Given the description of an element on the screen output the (x, y) to click on. 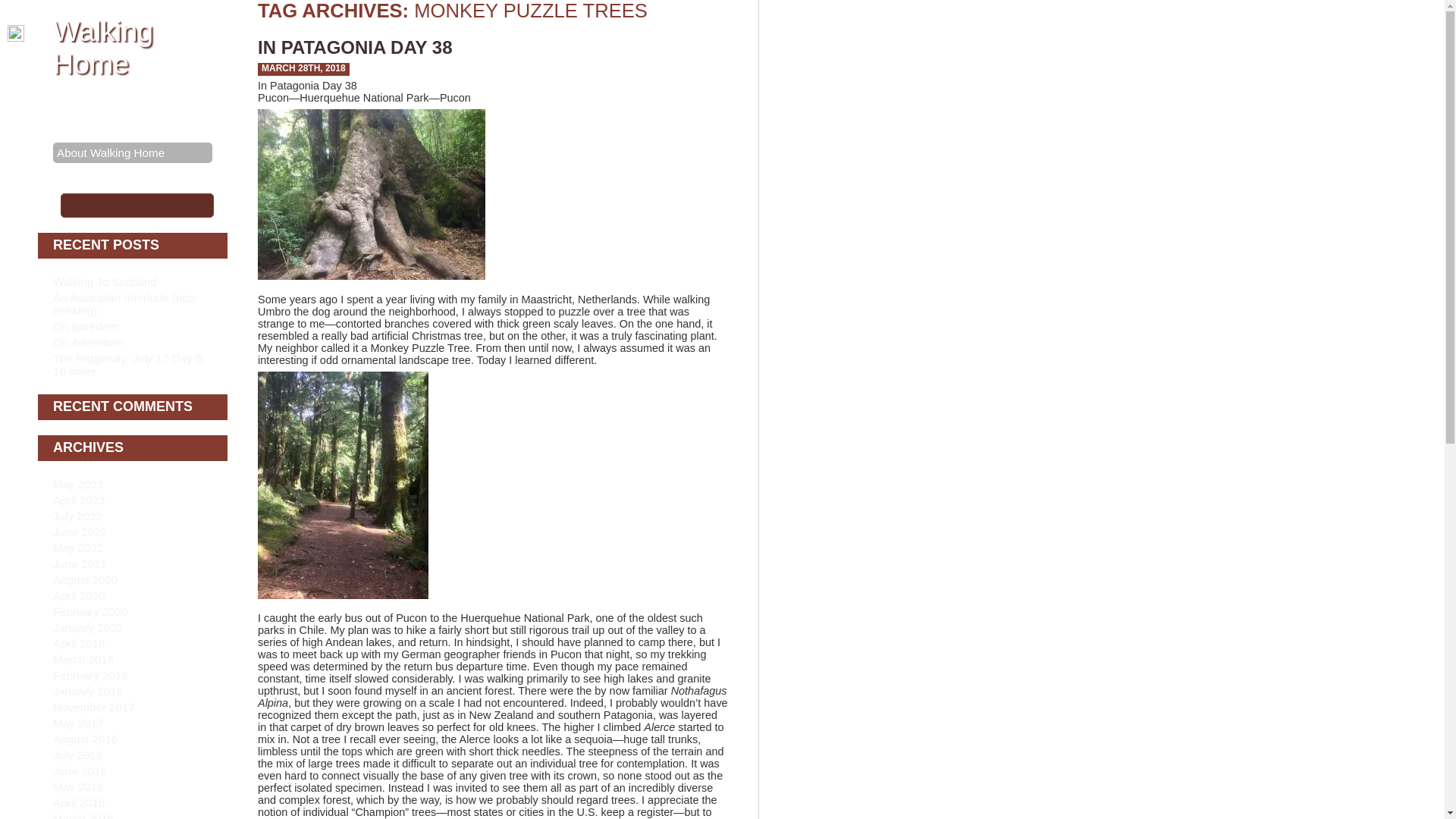
April 2020 (78, 595)
Permalink to In Patagonia Day 38 (304, 68)
April 2023 (78, 499)
Walking Home (102, 47)
Walking Home - reveries of an amateur long-distance hiker (102, 47)
April 2016 (78, 802)
IN PATAGONIA DAY 38 (354, 46)
April 2018 (78, 643)
Permalink to In Patagonia Day 38 (354, 46)
May 2022 (77, 548)
August 2020 (84, 580)
May 2017 (77, 723)
June 2016 (79, 771)
July 2022 (76, 516)
August 2016 (84, 739)
